Given the description of an element on the screen output the (x, y) to click on. 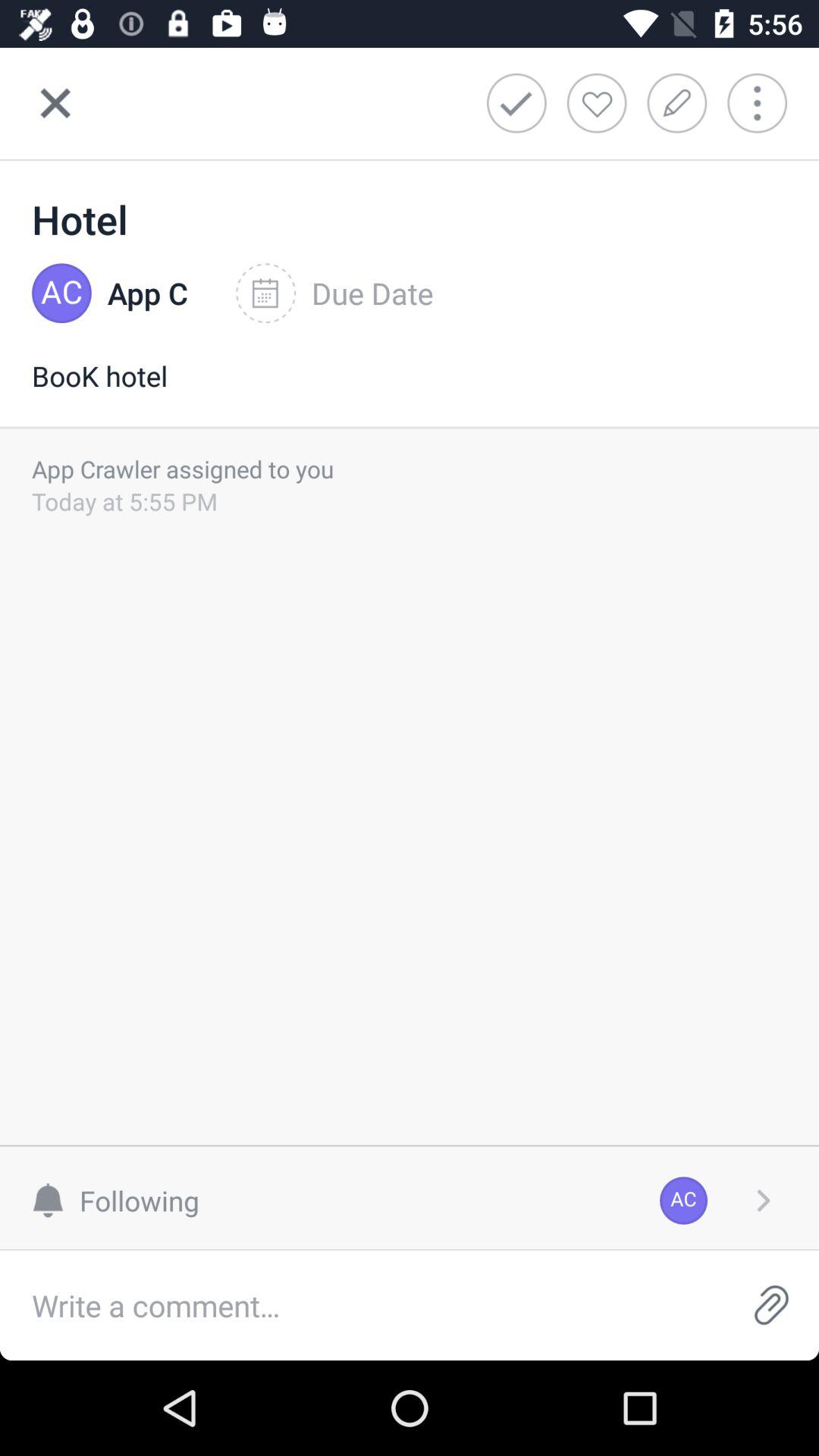
select more options (763, 1200)
